Given the description of an element on the screen output the (x, y) to click on. 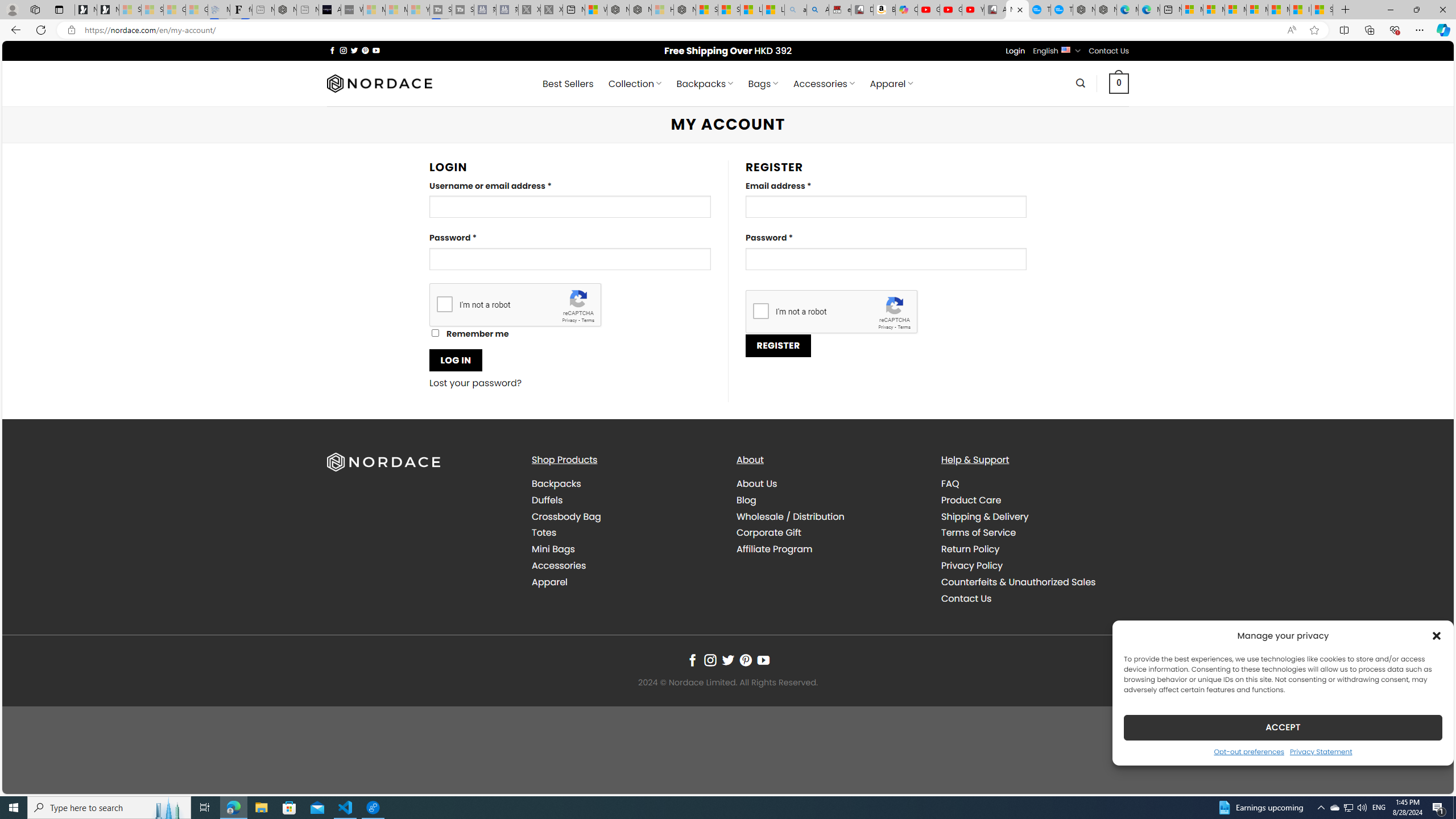
Duffels (547, 499)
Apparel (625, 581)
 0  (1118, 83)
Terms of Service (1034, 532)
Affiliate Program (774, 549)
Gloom - YouTube (950, 9)
Remember me (434, 333)
What's the best AI voice generator? - voice.ai - Sleeping (352, 9)
Wholesale / Distribution (790, 516)
Login (1015, 50)
